Given the description of an element on the screen output the (x, y) to click on. 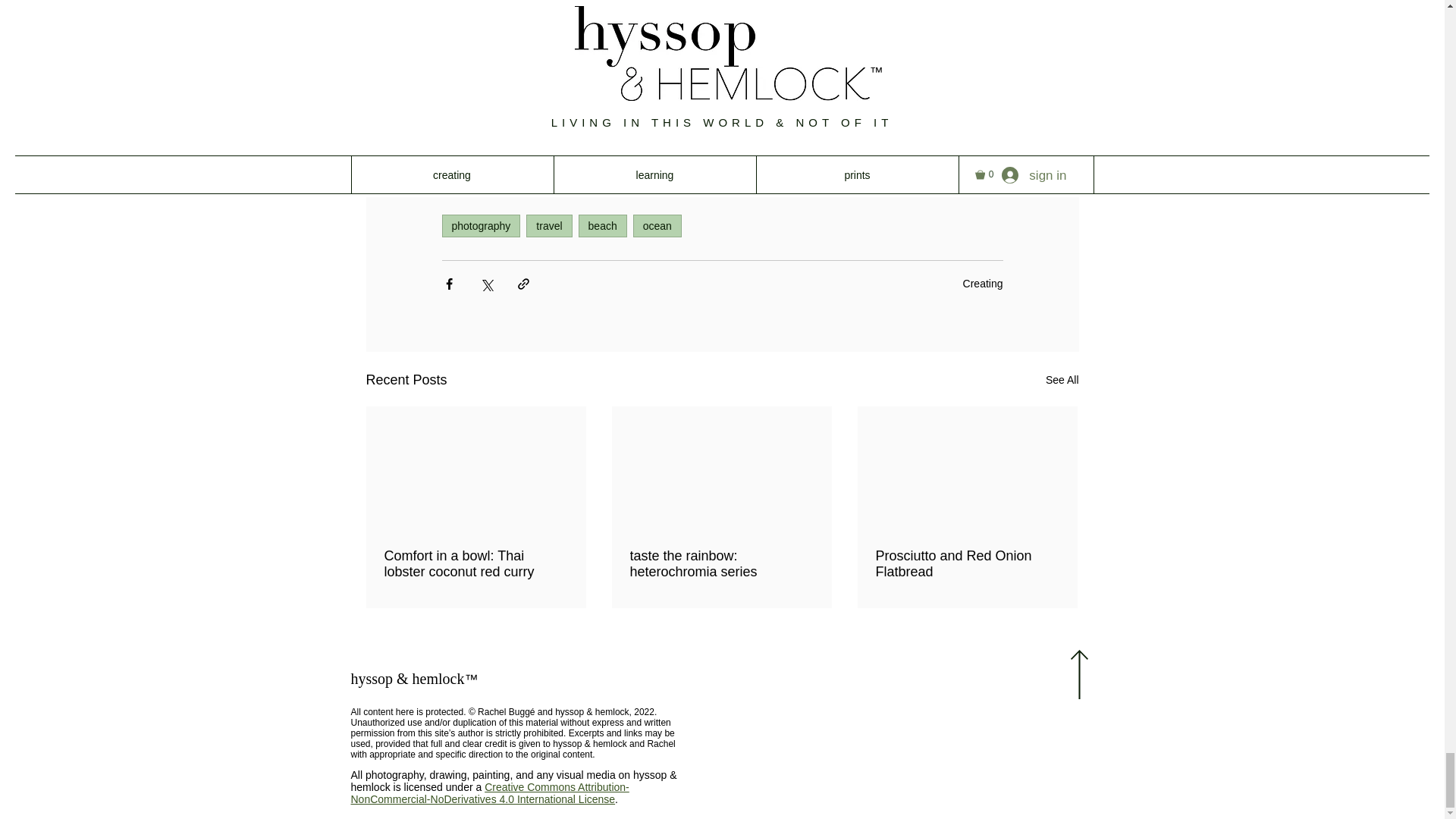
travel (548, 225)
ocean (657, 225)
beach (602, 225)
See All (1061, 380)
photography (480, 225)
Comfort in a bowl: Thai lobster coconut red curry (475, 563)
Creating (982, 283)
taste the rainbow: heterochromia series (720, 563)
Prosciutto and Red Onion Flatbread (966, 563)
